Given the description of an element on the screen output the (x, y) to click on. 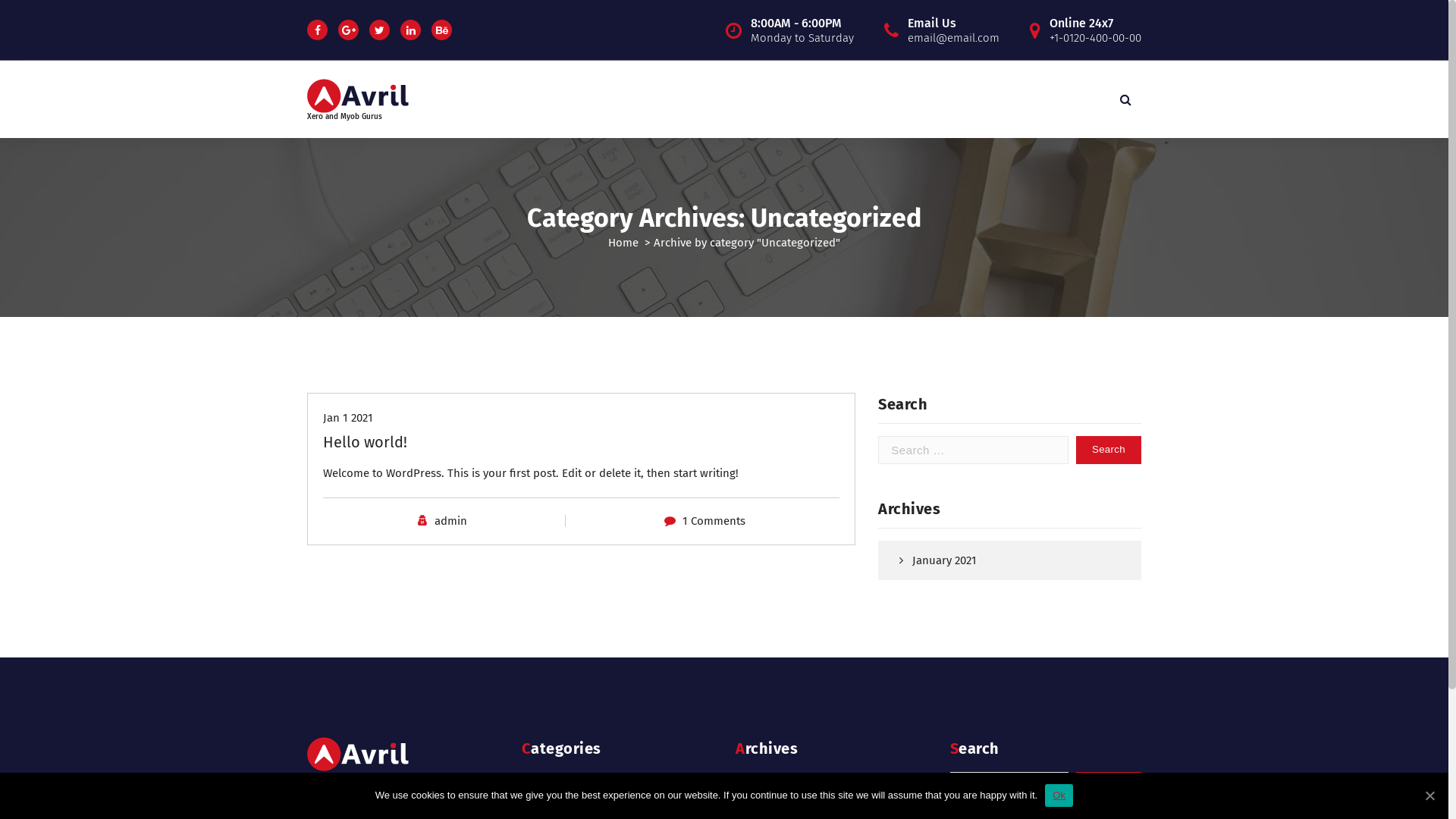
Jan 1 2021 Element type: text (348, 417)
Search Element type: text (1108, 450)
January 2021 Element type: text (825, 780)
8:00AM - 6:00PM
Monday to Saturday Element type: text (801, 29)
Email Us
email@email.com Element type: text (953, 29)
1 Comments Element type: text (713, 520)
Online 24x7
+1-0120-400-00-00 Element type: text (1095, 29)
admin Element type: text (450, 520)
Ok Element type: text (1058, 795)
Home Element type: text (623, 242)
Search Element type: text (1108, 785)
January 2021 Element type: text (1003, 560)
Hello world! Element type: text (365, 442)
Uncategorized Element type: text (611, 780)
